Given the description of an element on the screen output the (x, y) to click on. 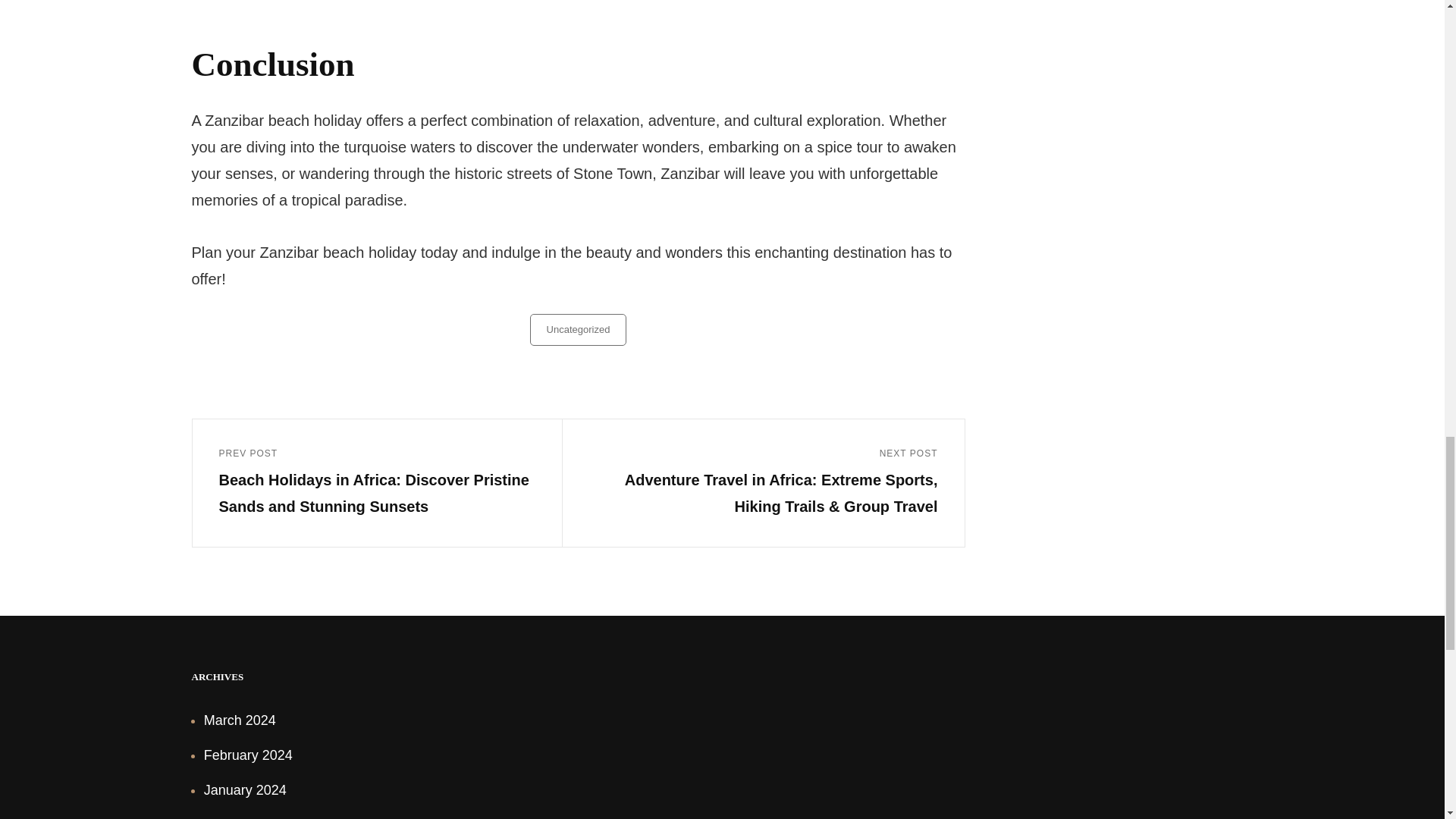
March 2024 (239, 720)
Uncategorized (578, 329)
February 2024 (247, 754)
December 2023 (252, 818)
January 2024 (244, 789)
